Given the description of an element on the screen output the (x, y) to click on. 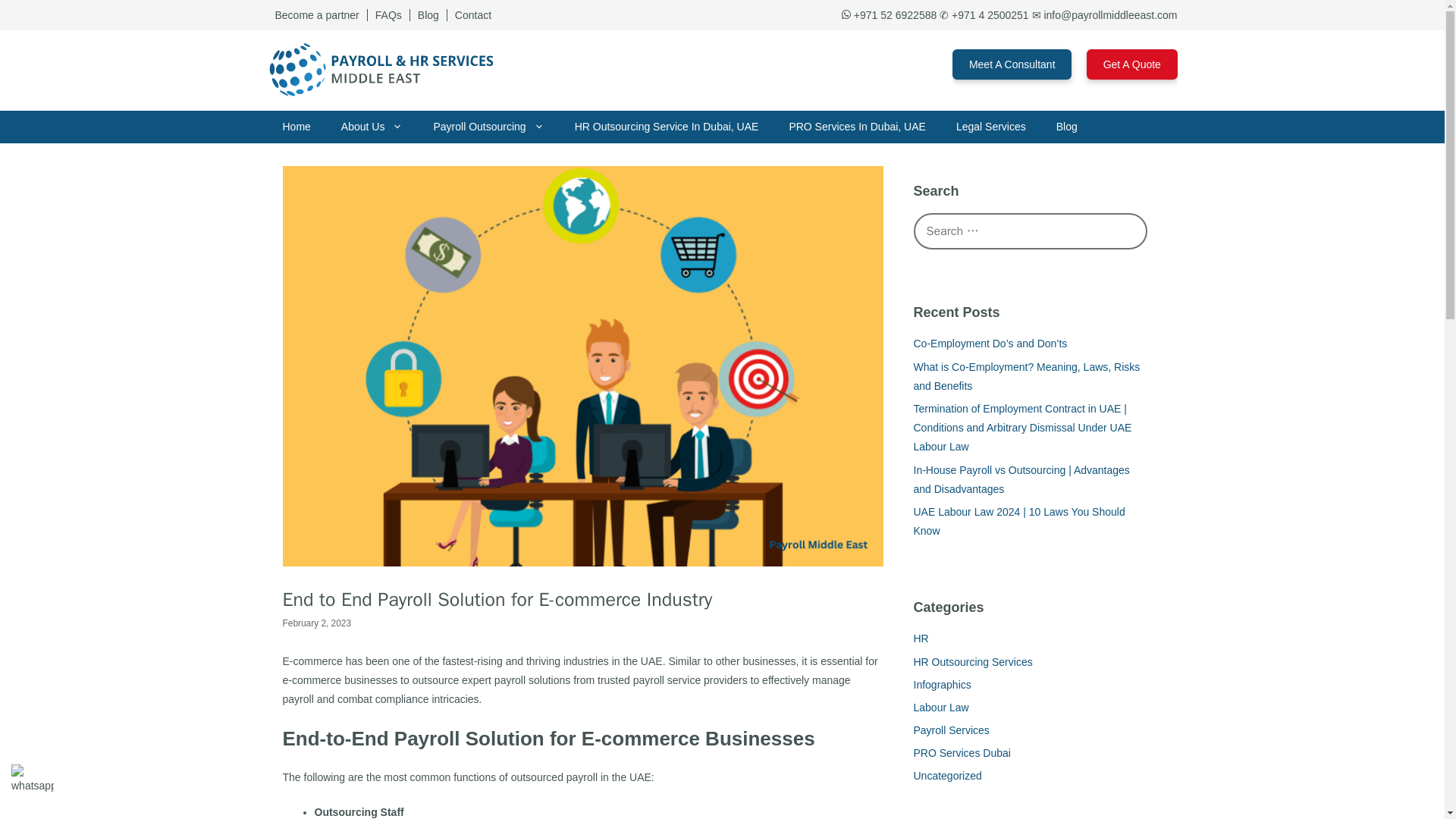
Get A Quote (1131, 64)
Contact (472, 15)
FAQs (389, 15)
Blog (428, 15)
Meet A Consultant (1011, 64)
About Us (372, 126)
Search for: (1029, 230)
Home (295, 126)
Become a partner (316, 15)
Payroll Outsourcing (488, 126)
